Given the description of an element on the screen output the (x, y) to click on. 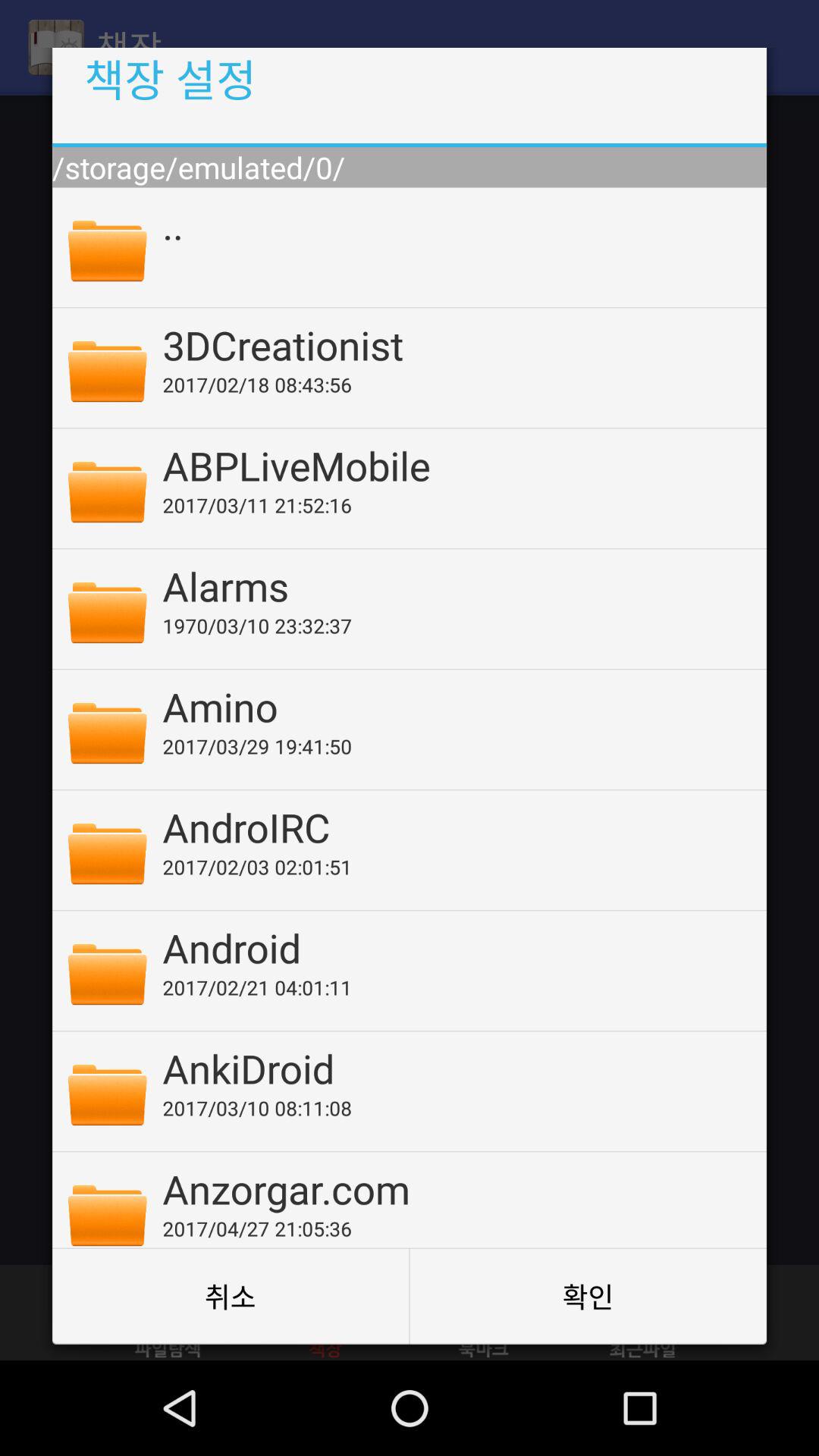
jump until anzorgar.com item (454, 1188)
